Given the description of an element on the screen output the (x, y) to click on. 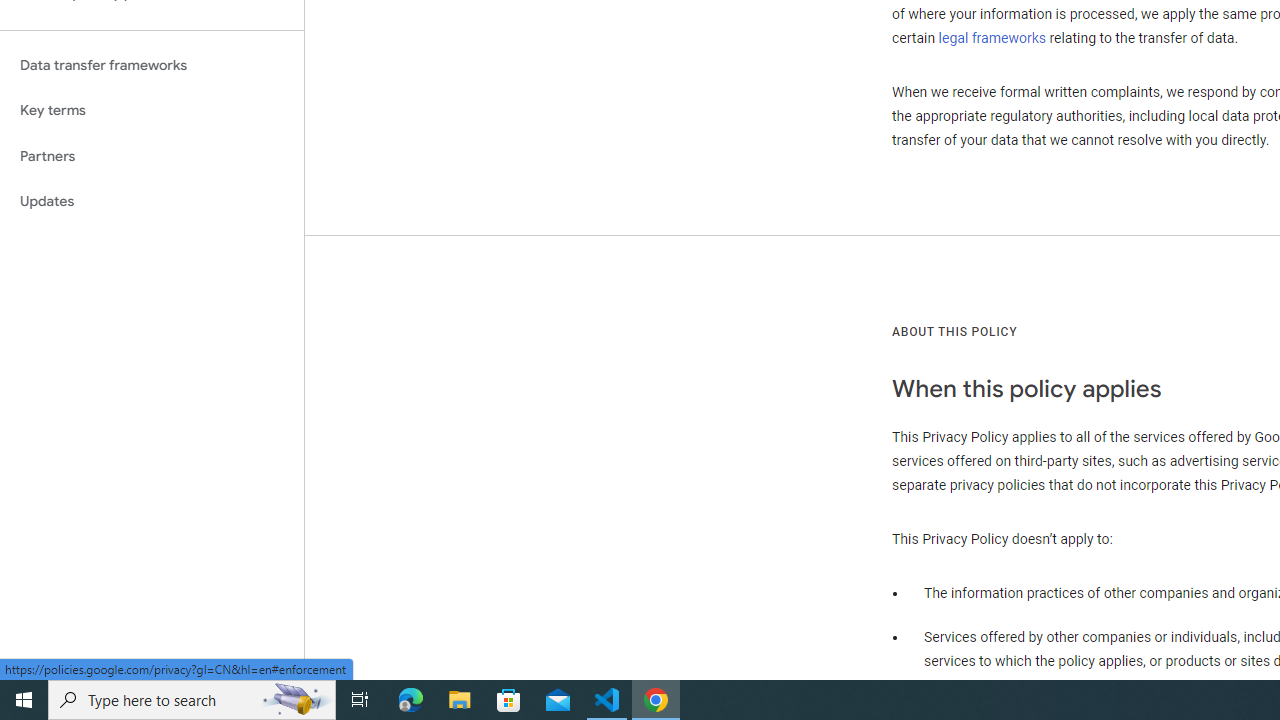
legal frameworks (991, 37)
